Given the description of an element on the screen output the (x, y) to click on. 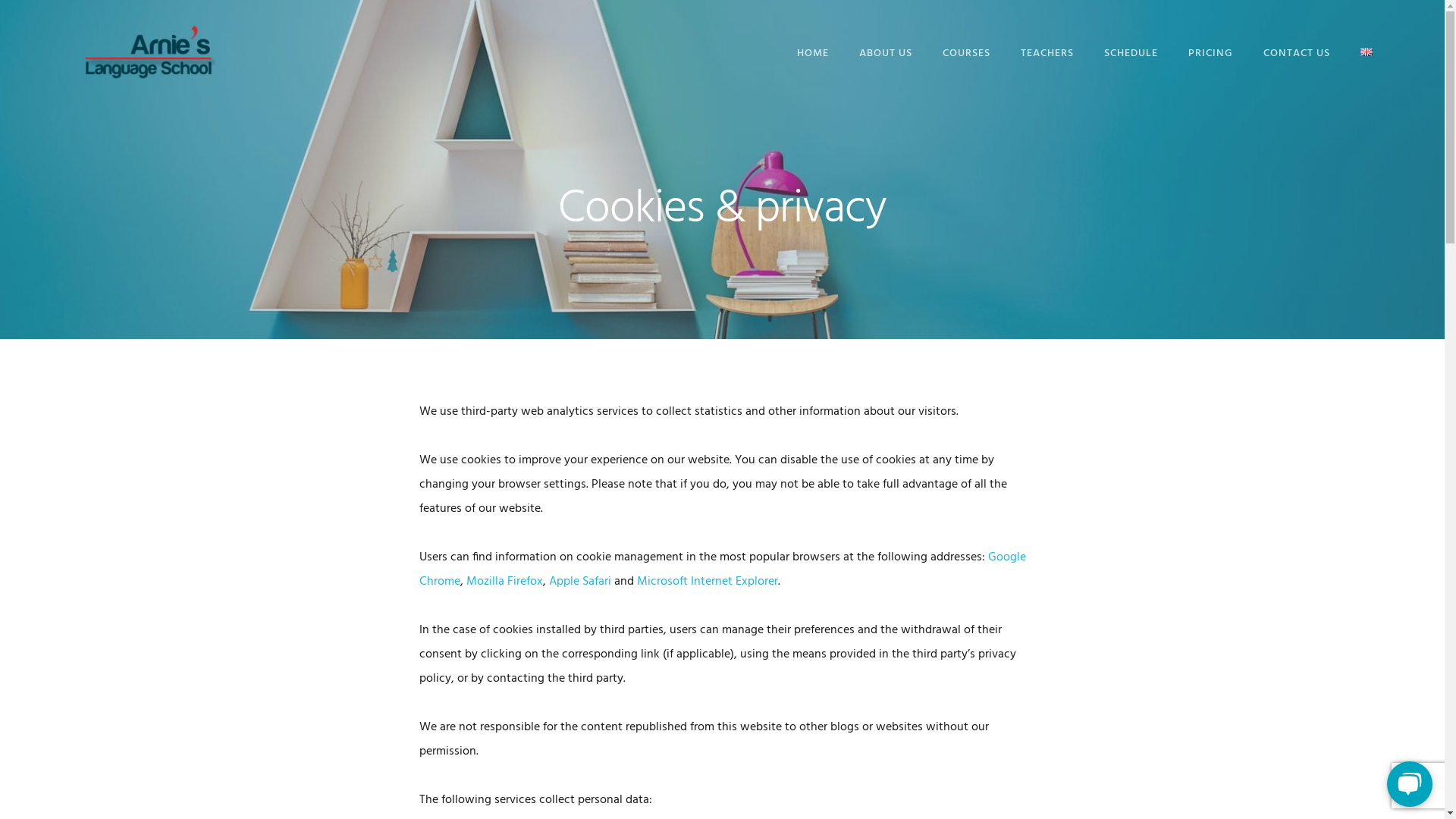
COURSES Element type: text (966, 53)
Skip to primary navigation Element type: text (0, 0)
Google Chrome Element type: text (721, 569)
CONTACT US Element type: text (1296, 53)
PRICING Element type: text (1210, 53)
Arnie's Language School Element type: text (147, 50)
Apple Safari Element type: text (580, 581)
ABOUT US Element type: text (885, 53)
TEACHERS Element type: text (1046, 53)
HOME Element type: text (812, 53)
SCHEDULE Element type: text (1130, 53)
Microsoft Internet Explorer Element type: text (707, 581)
Mozilla Firefox Element type: text (503, 581)
